Given the description of an element on the screen output the (x, y) to click on. 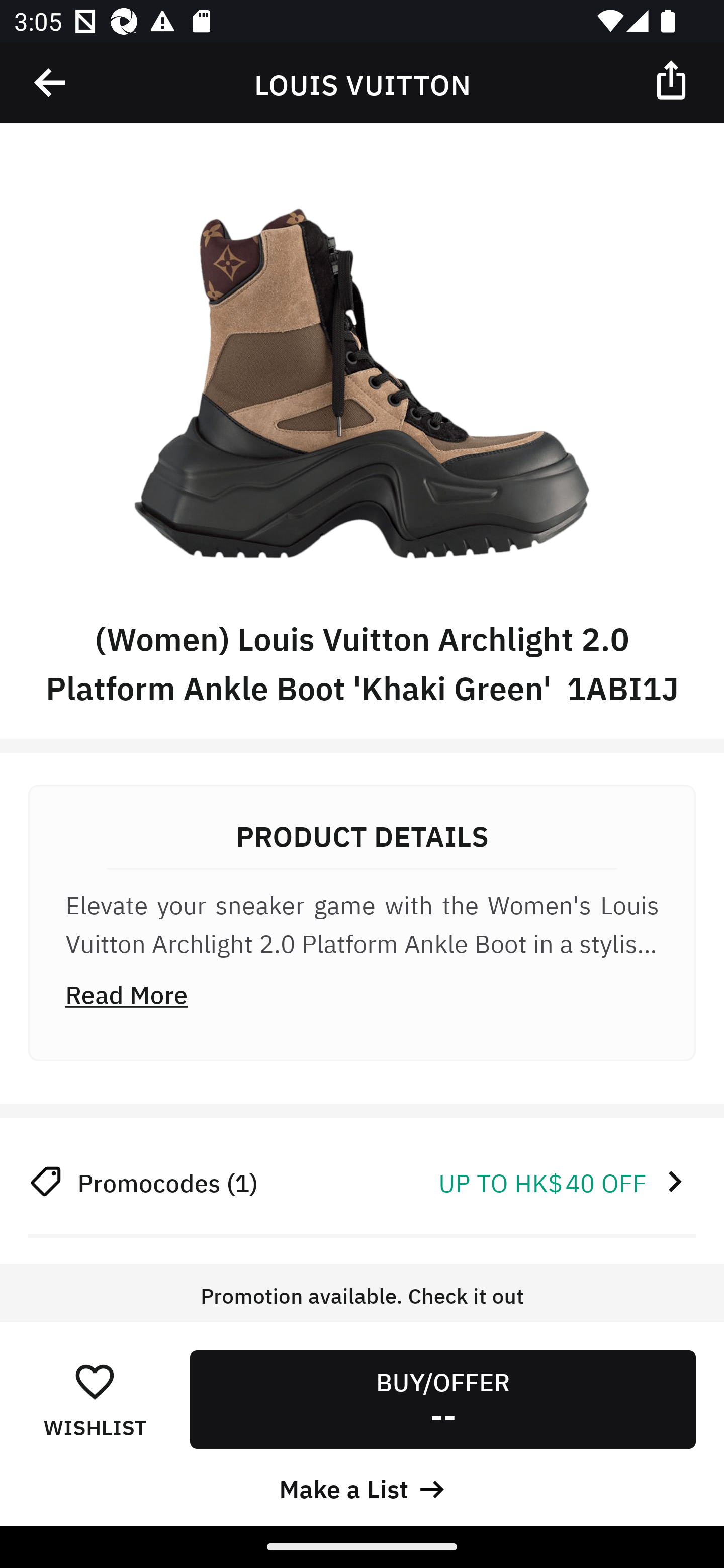
 (50, 83)
 (672, 79)
Promocodes (1) UP TO HK$ 40 OFF  (361, 1181)
BUY/OFFER -- (442, 1399)
󰋕 (94, 1380)
Make a List (361, 1486)
